Given the description of an element on the screen output the (x, y) to click on. 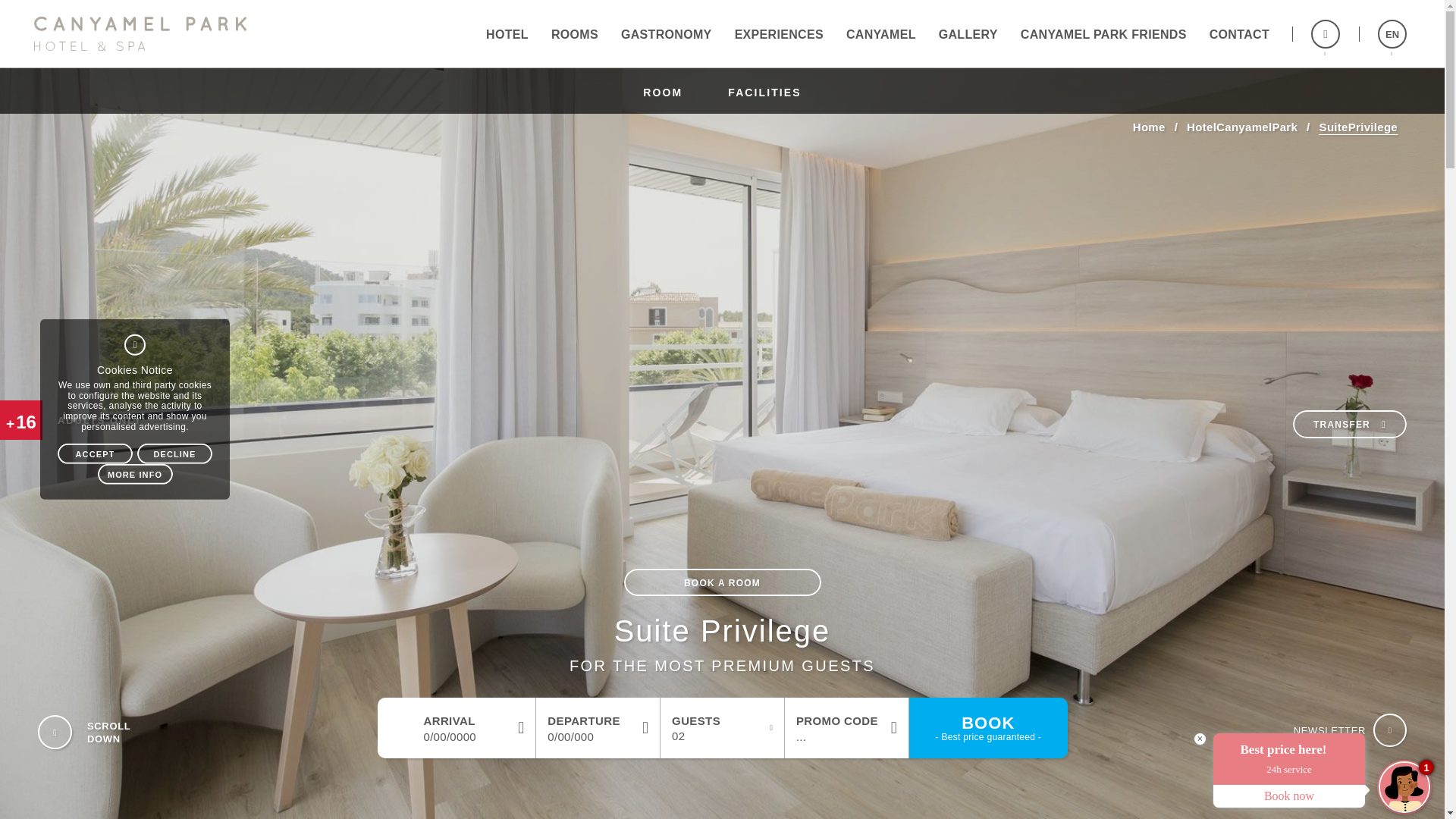
GASTRONOMY (666, 32)
HOTEL (507, 32)
SCROLL DOWN (54, 732)
CONTACT (1239, 32)
FACILITIES (764, 90)
CANYAMEL (880, 32)
GALLERY (987, 727)
ROOMS (968, 32)
BOOK A ROOM (575, 32)
SCROLL DOWN (722, 582)
TRANSFER (114, 732)
SCROLL DOWN (1349, 424)
CANYAMEL PARK FRIENDS (54, 732)
ROOM (1103, 32)
